Given the description of an element on the screen output the (x, y) to click on. 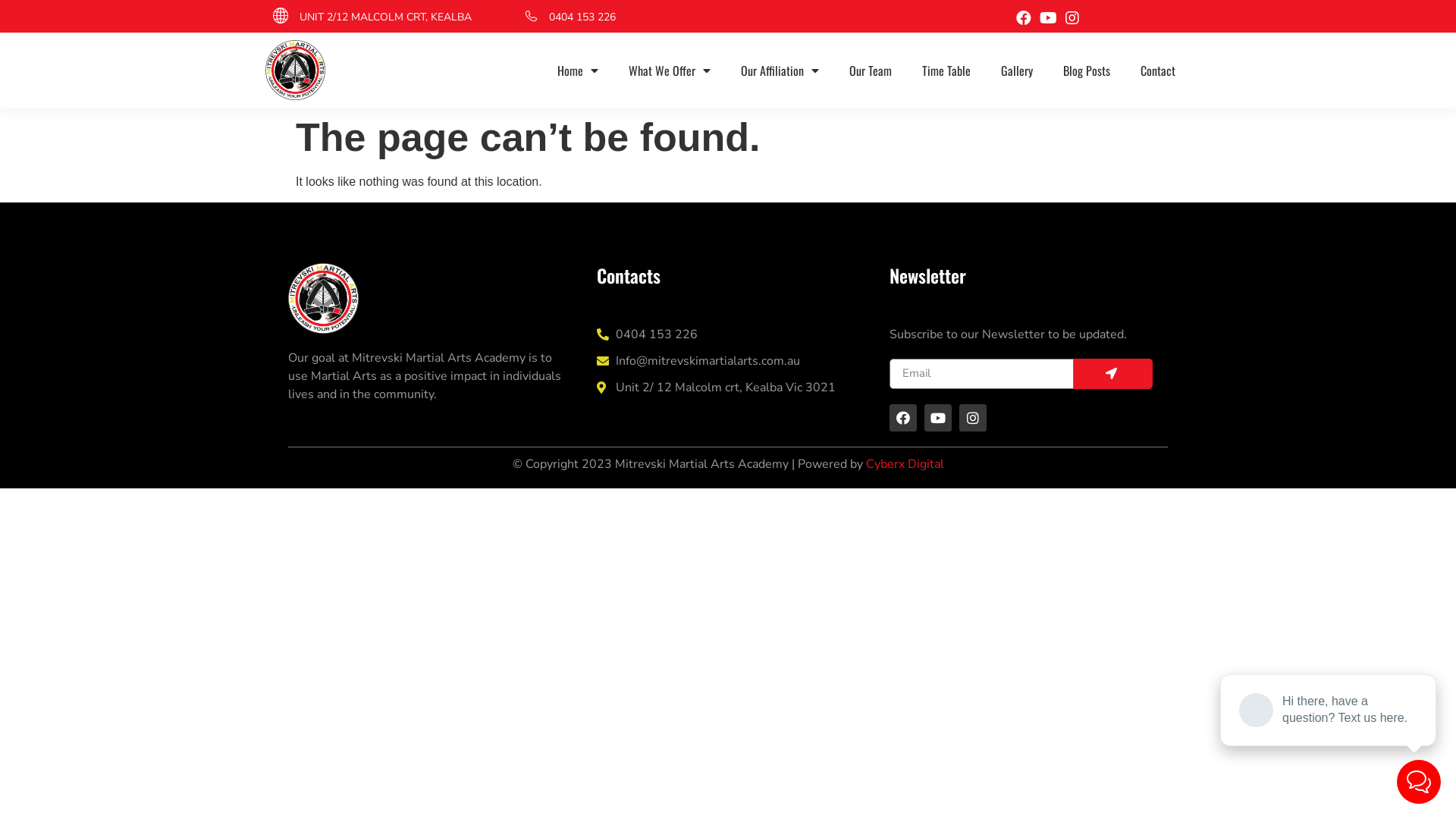
Our Affiliation Element type: text (779, 70)
Cyberx Digital Element type: text (905, 463)
Time Table Element type: text (945, 70)
Blog Posts Element type: text (1086, 70)
What We Offer Element type: text (669, 70)
0404 153 226 Element type: text (727, 334)
Info@mitrevskimartialarts.com.au Element type: text (727, 360)
Contact Element type: text (1157, 70)
Gallery Element type: text (1016, 70)
Unit 2/ 12 Malcolm crt, Kealba Vic 3021 Element type: text (727, 387)
Our Team Element type: text (870, 70)
Home Element type: text (577, 70)
0404 153 226 Element type: text (582, 16)
